Given the description of an element on the screen output the (x, y) to click on. 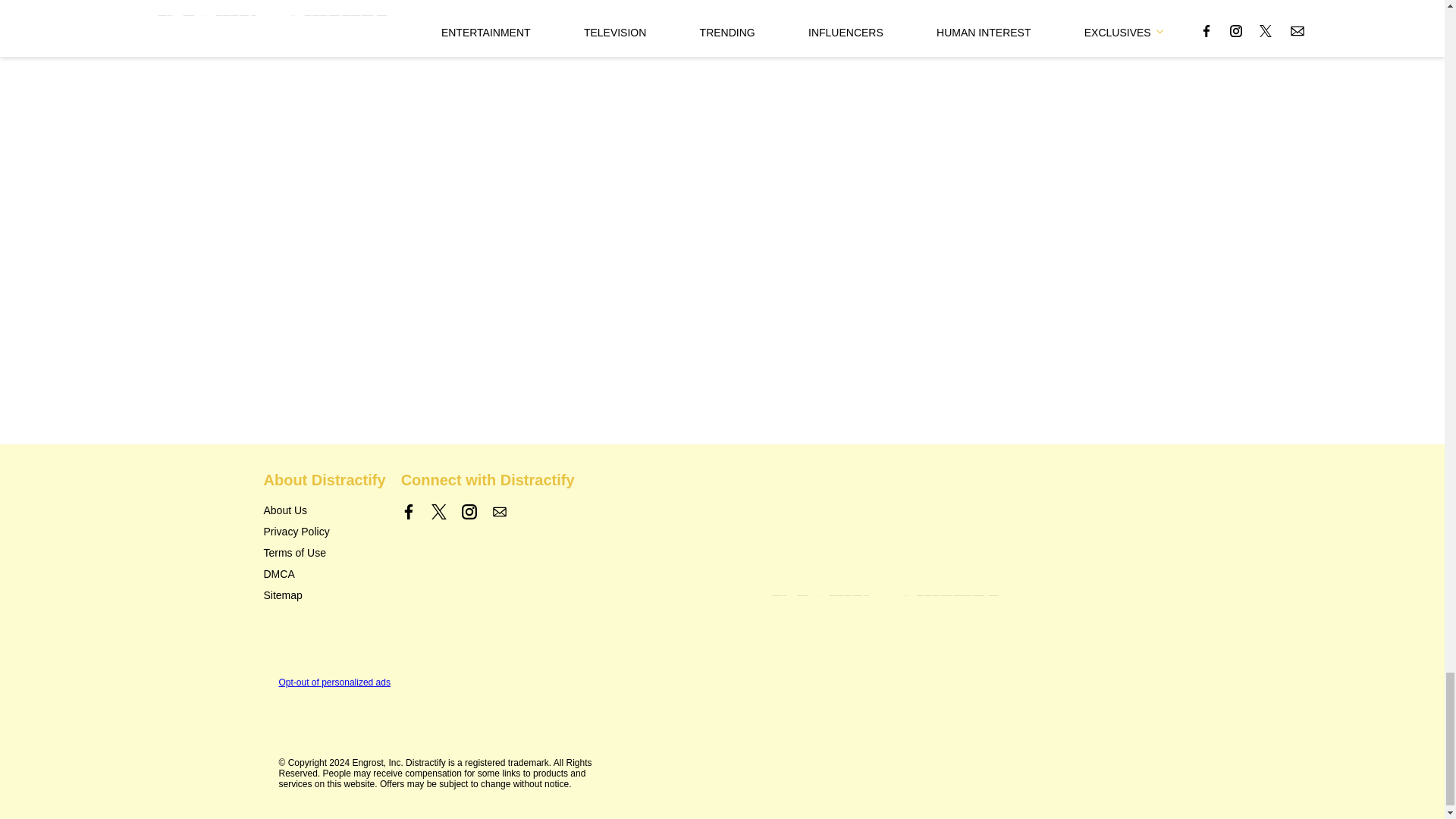
Terms of Use (294, 552)
Link to Facebook (408, 511)
Terms of Use (294, 552)
About Us (285, 510)
Contact us by Email (499, 511)
Sitemap (282, 594)
About Us (285, 510)
Privacy Policy (296, 531)
DMCA (279, 573)
Link to X (438, 511)
